Given the description of an element on the screen output the (x, y) to click on. 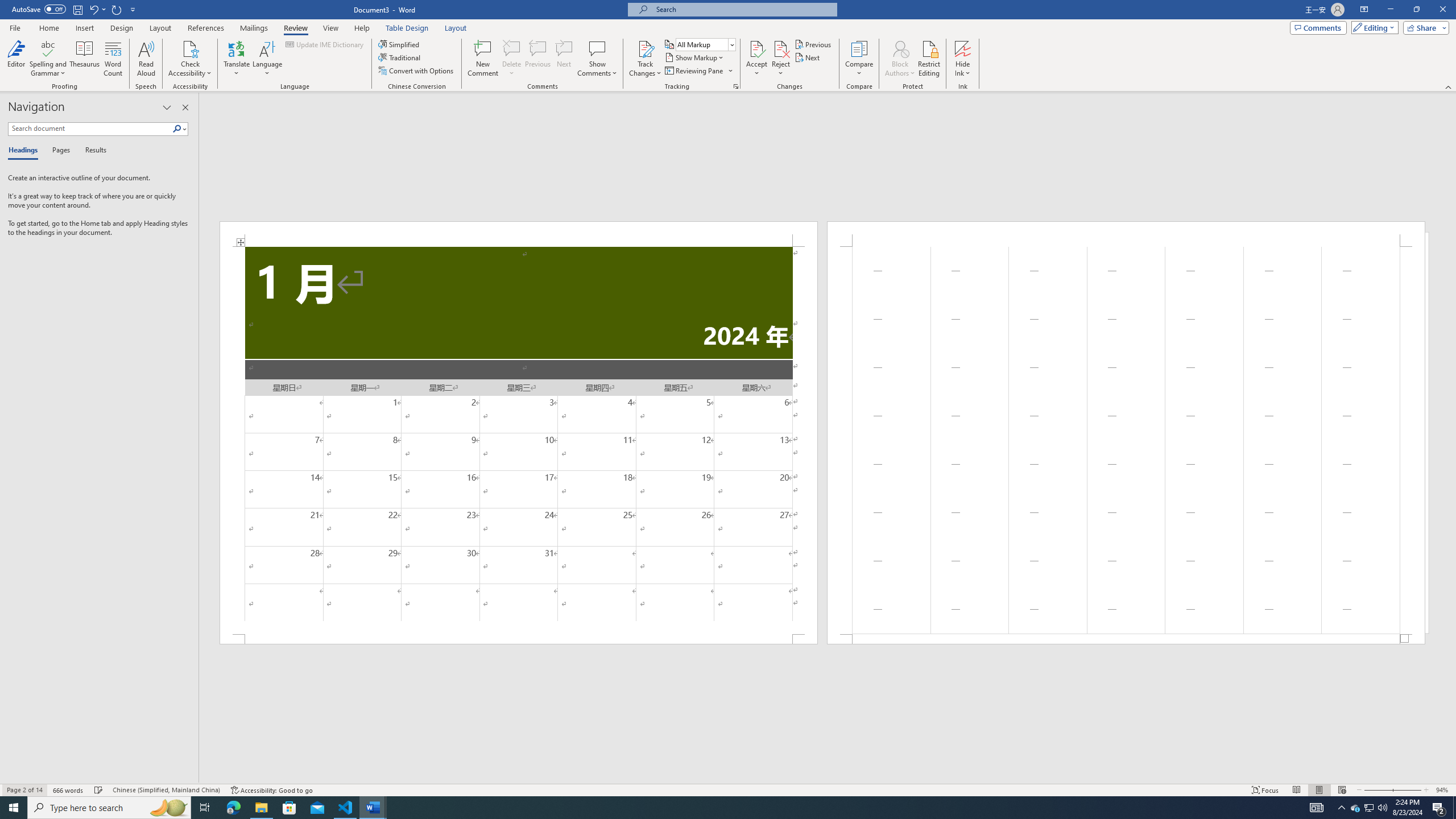
Reviewing Pane (694, 69)
Block Authors (900, 48)
Accept (756, 58)
Show Comments (597, 48)
Block Authors (900, 58)
Page Number Page 2 of 14 (24, 790)
Restrict Editing (929, 58)
Hide Ink (962, 58)
